Given the description of an element on the screen output the (x, y) to click on. 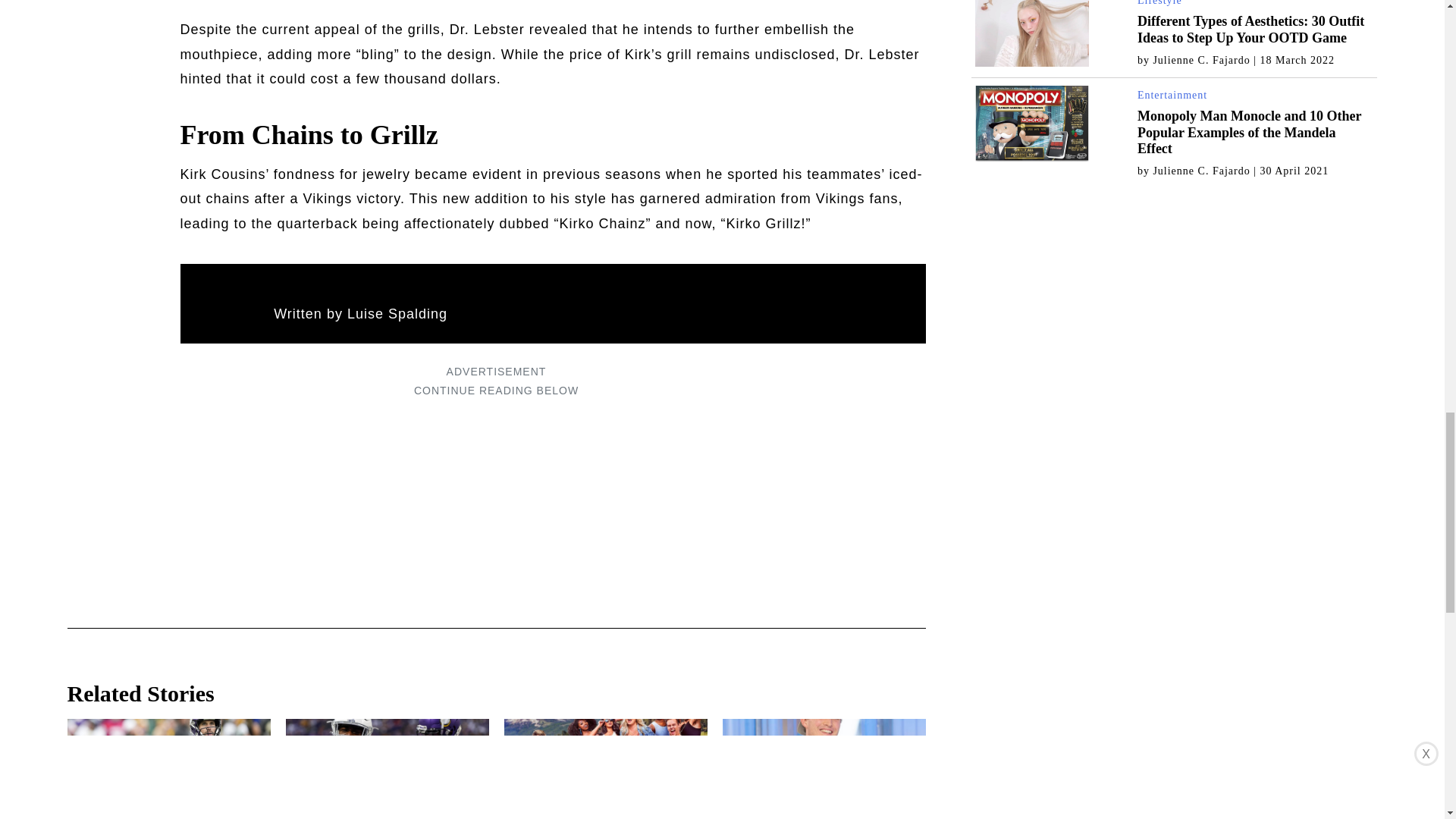
How To Watch Floribama Shore (604, 766)
How To Watch Vikings Vs Colts (386, 766)
How To Watch Vikings Vs Colts (386, 766)
How To Watch Floribama Shore (604, 766)
